Given the description of an element on the screen output the (x, y) to click on. 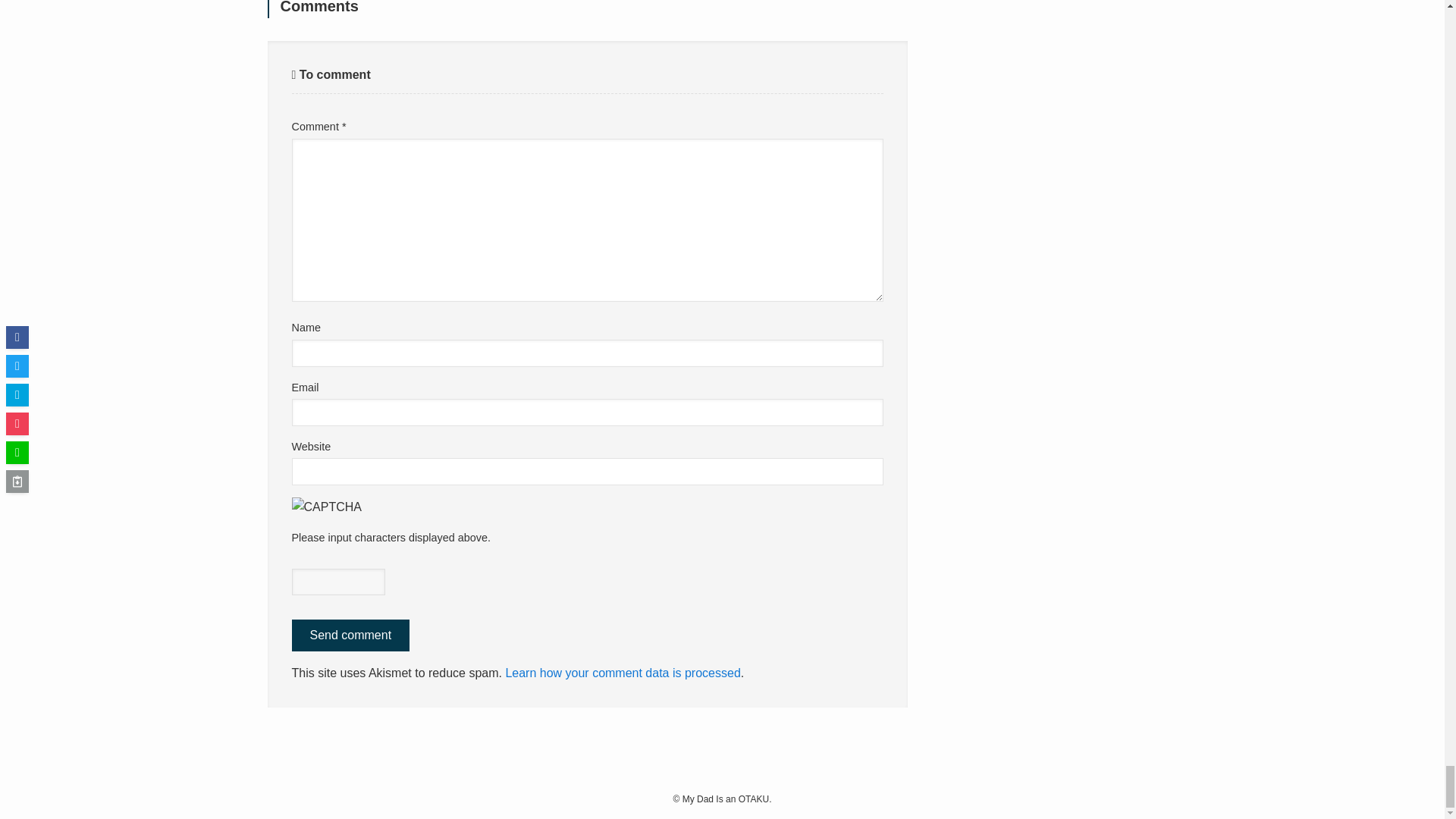
Send comment (350, 635)
